Given the description of an element on the screen output the (x, y) to click on. 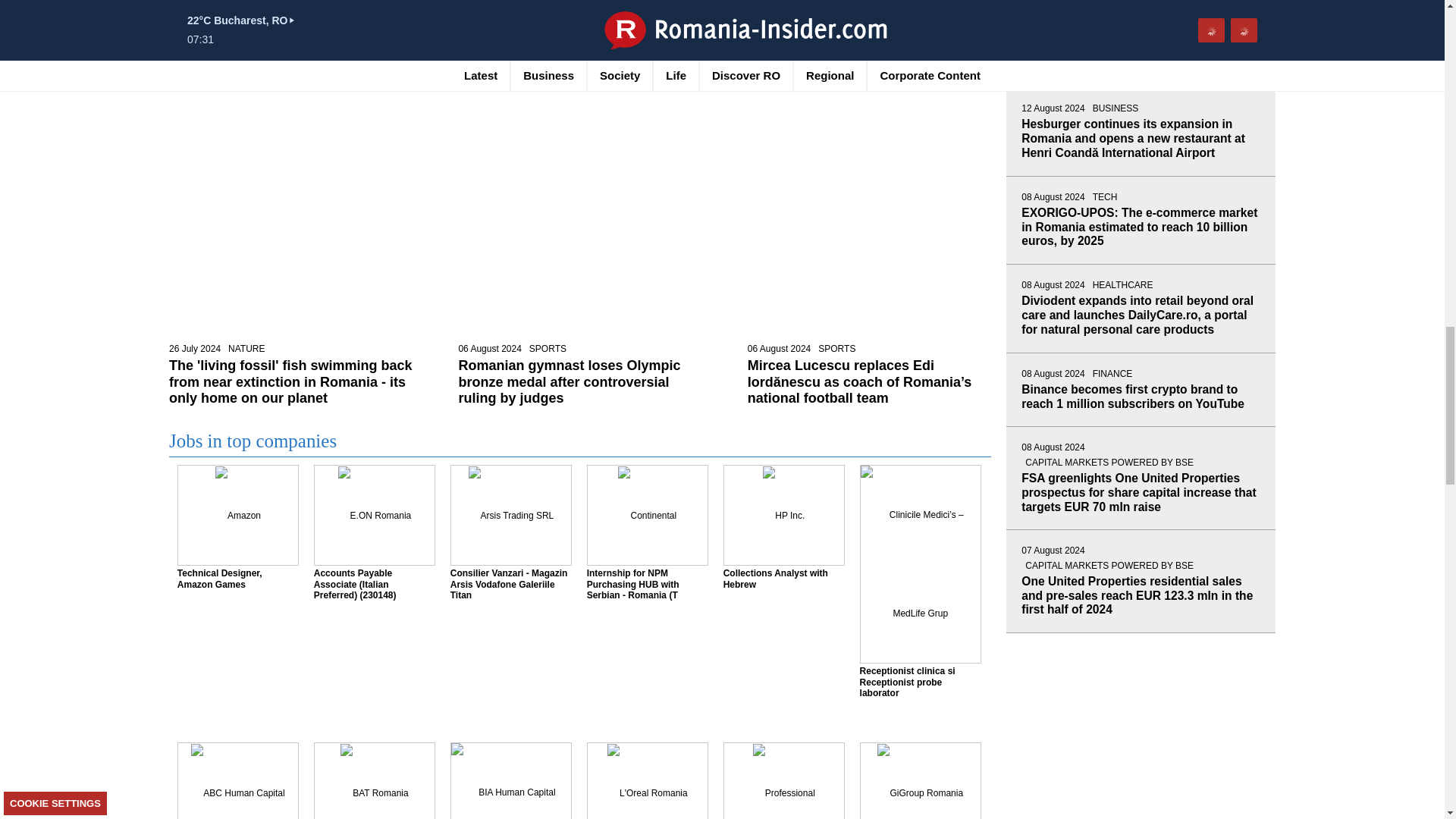
INGINER RECEPTIE SERVICE - OTOPENI (236, 781)
Specialist Marketing Online - part-time (510, 780)
Master Data Assistant (374, 781)
